Given the description of an element on the screen output the (x, y) to click on. 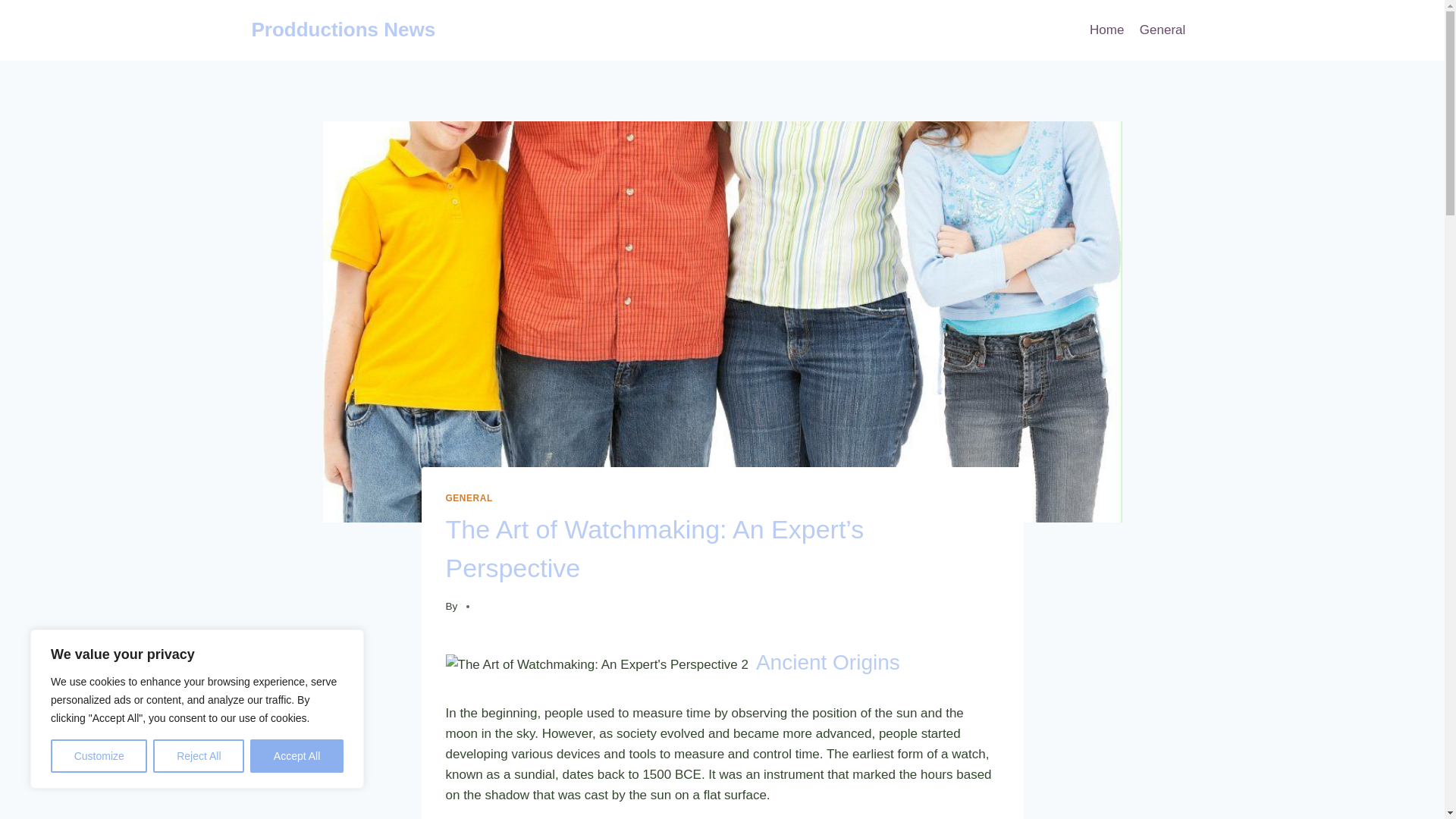
Reject All (198, 756)
GENERAL (469, 498)
Customize (98, 756)
General (1162, 30)
Home (1106, 30)
Accept All (296, 756)
Prodductions News (343, 29)
